Given the description of an element on the screen output the (x, y) to click on. 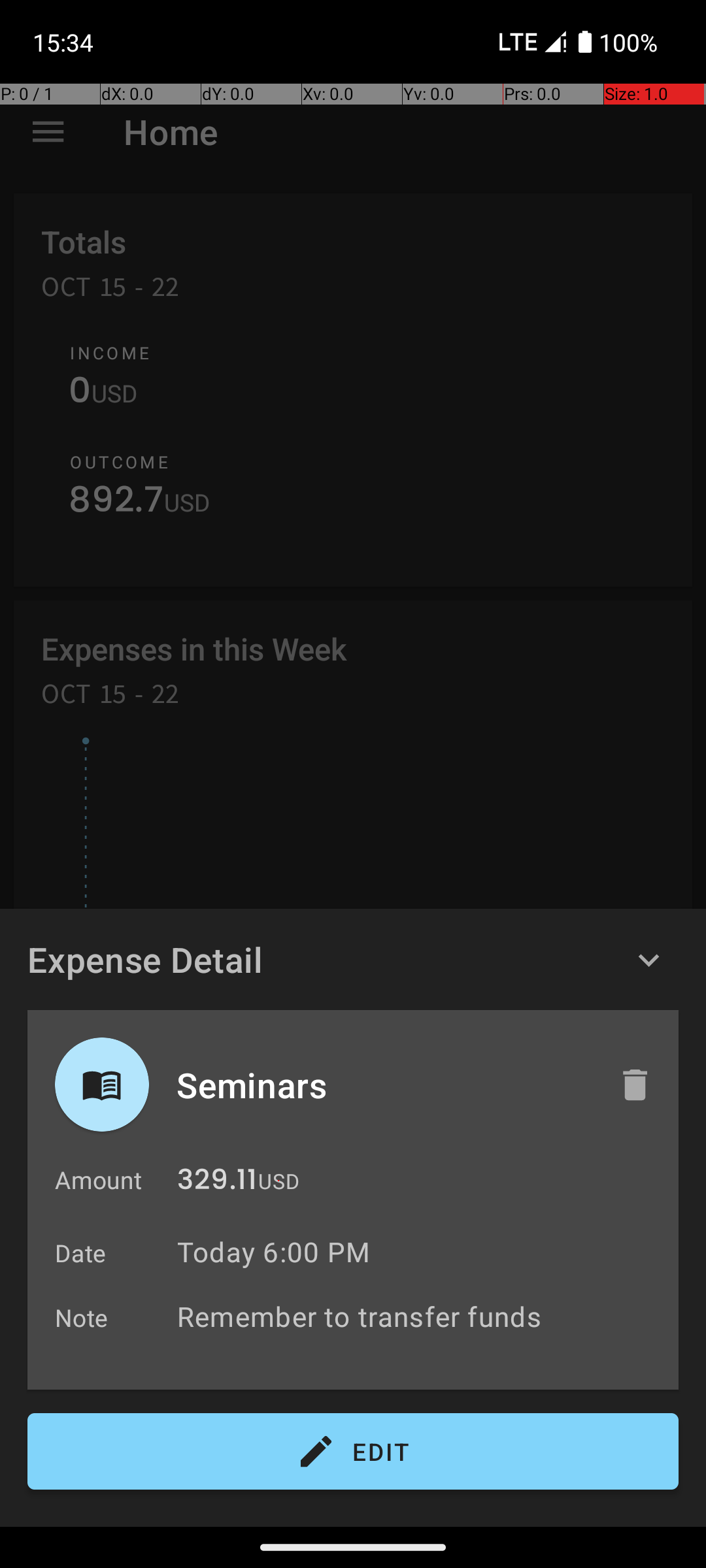
Seminars Element type: android.widget.TextView (383, 1084)
329.11 Element type: android.widget.TextView (216, 1182)
